Given the description of an element on the screen output the (x, y) to click on. 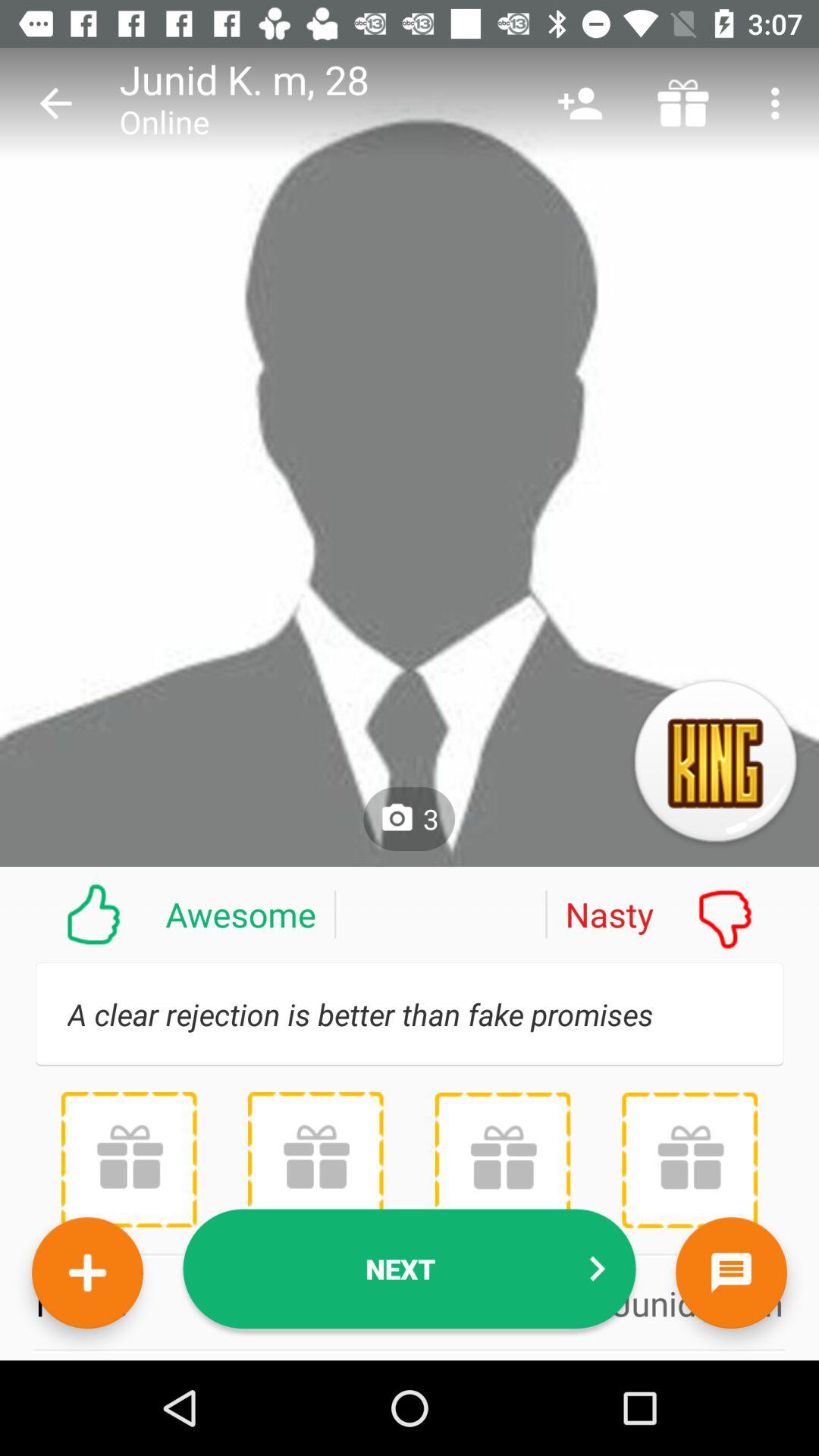
send a message (731, 1272)
